Given the description of an element on the screen output the (x, y) to click on. 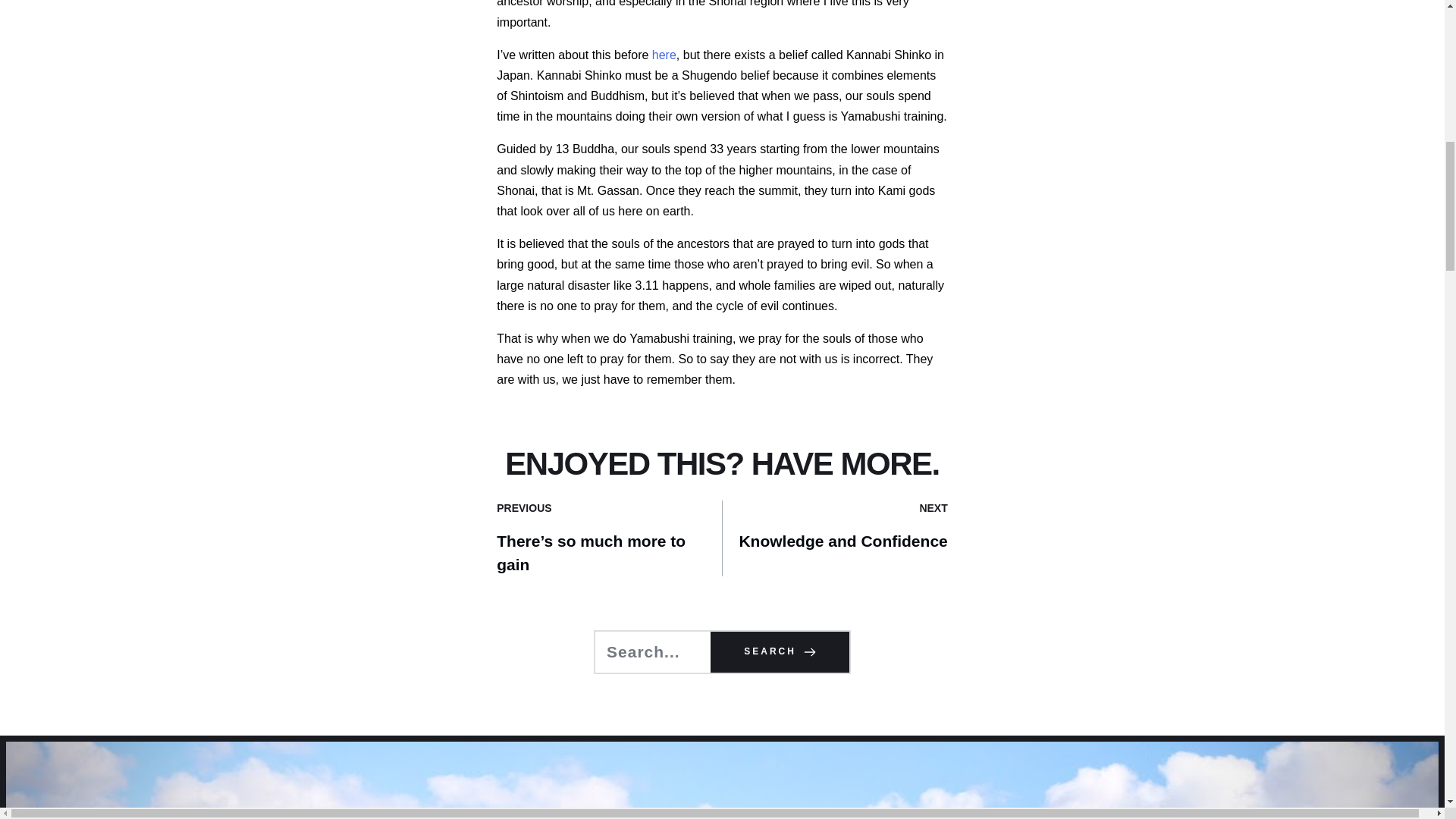
SEARCH (779, 651)
Knowledge and Confidence (842, 553)
here (664, 54)
